Given the description of an element on the screen output the (x, y) to click on. 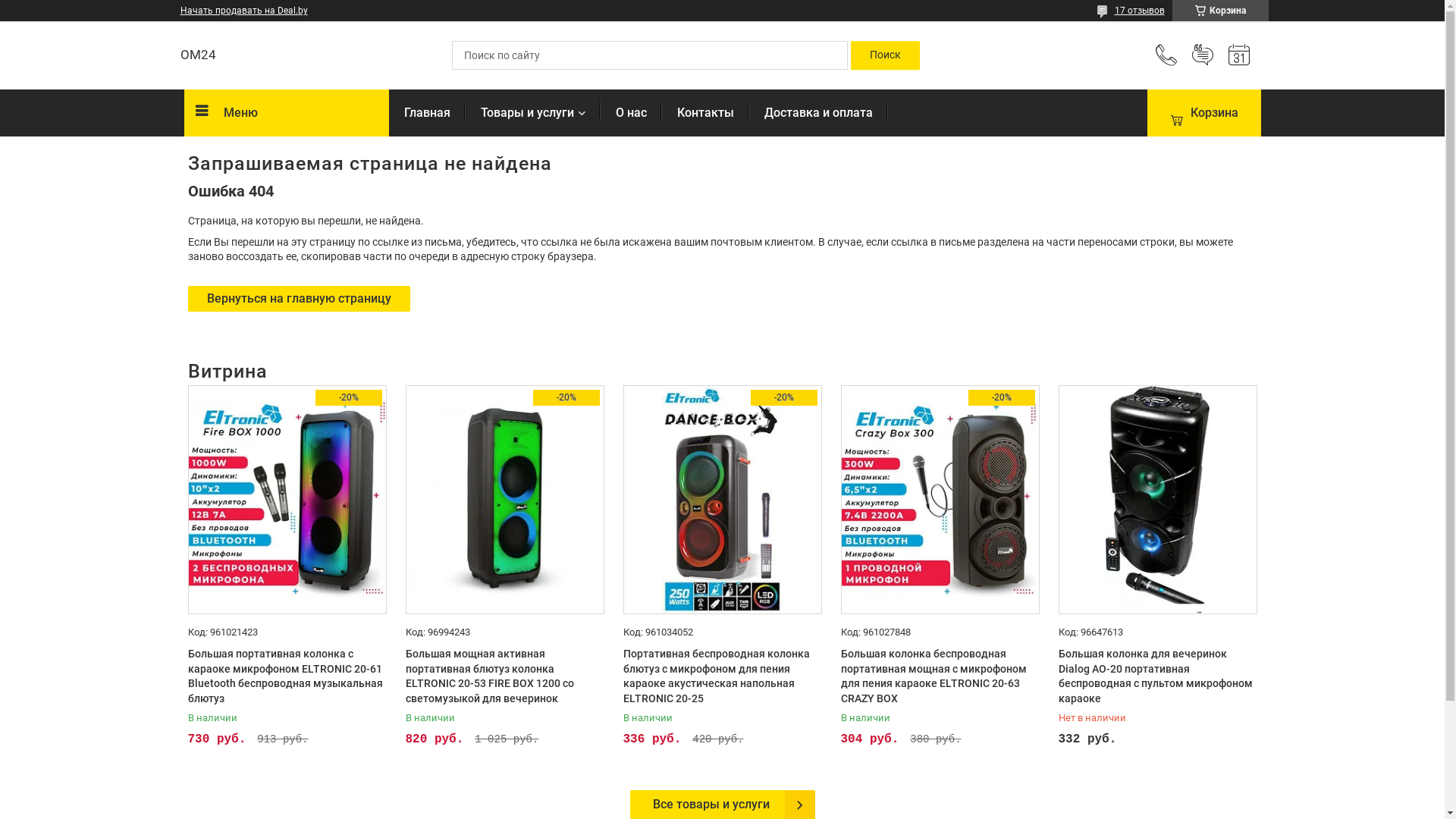
-20% Element type: text (722, 499)
-20% Element type: text (939, 499)
-20% Element type: text (503, 499)
-20% Element type: text (287, 499)
